Given the description of an element on the screen output the (x, y) to click on. 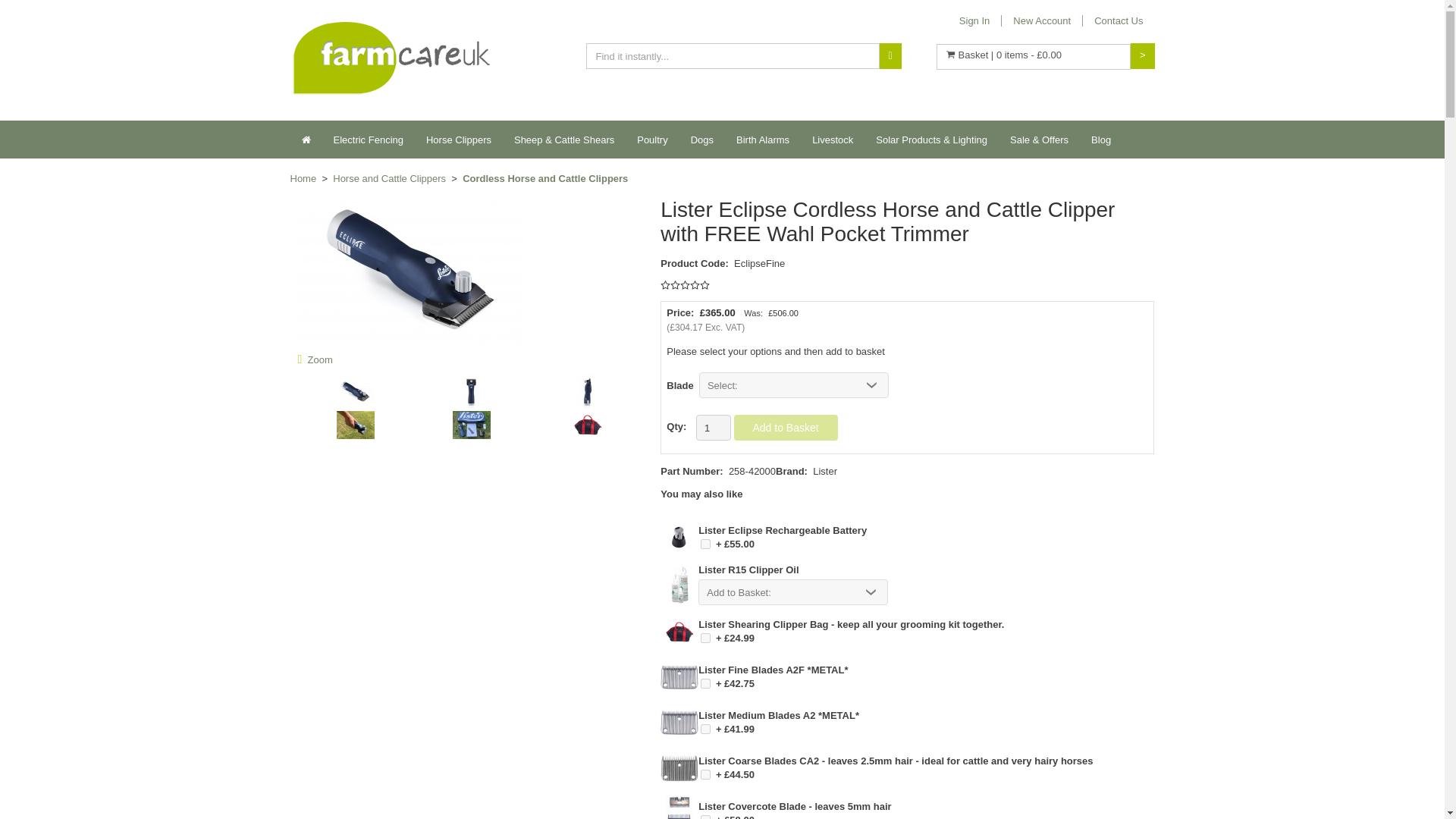
Zoom (679, 537)
Add to Basket (895, 682)
1 (705, 542)
1 (705, 682)
1 (705, 728)
1 (705, 816)
Add to Basket (895, 542)
1 (705, 773)
Add to Basket (895, 636)
Cordless Horse and Cattle Clippers (545, 178)
Lister Eclipse Rechargeable Battery (679, 546)
Zoom (679, 677)
Zoom (679, 722)
